Given the description of an element on the screen output the (x, y) to click on. 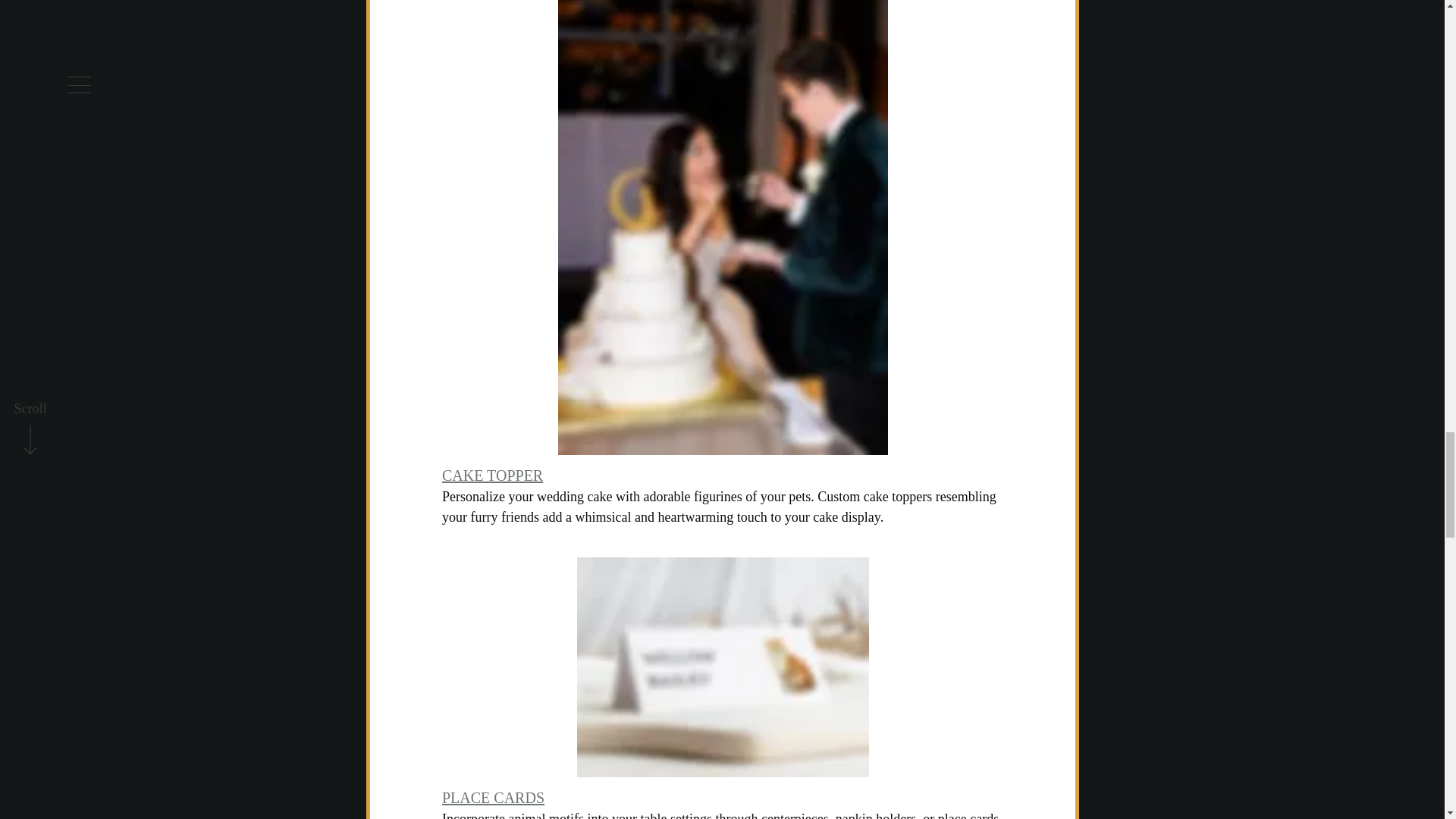
PLACE CARDS (492, 797)
CAKE TOPPER (491, 475)
